Given the description of an element on the screen output the (x, y) to click on. 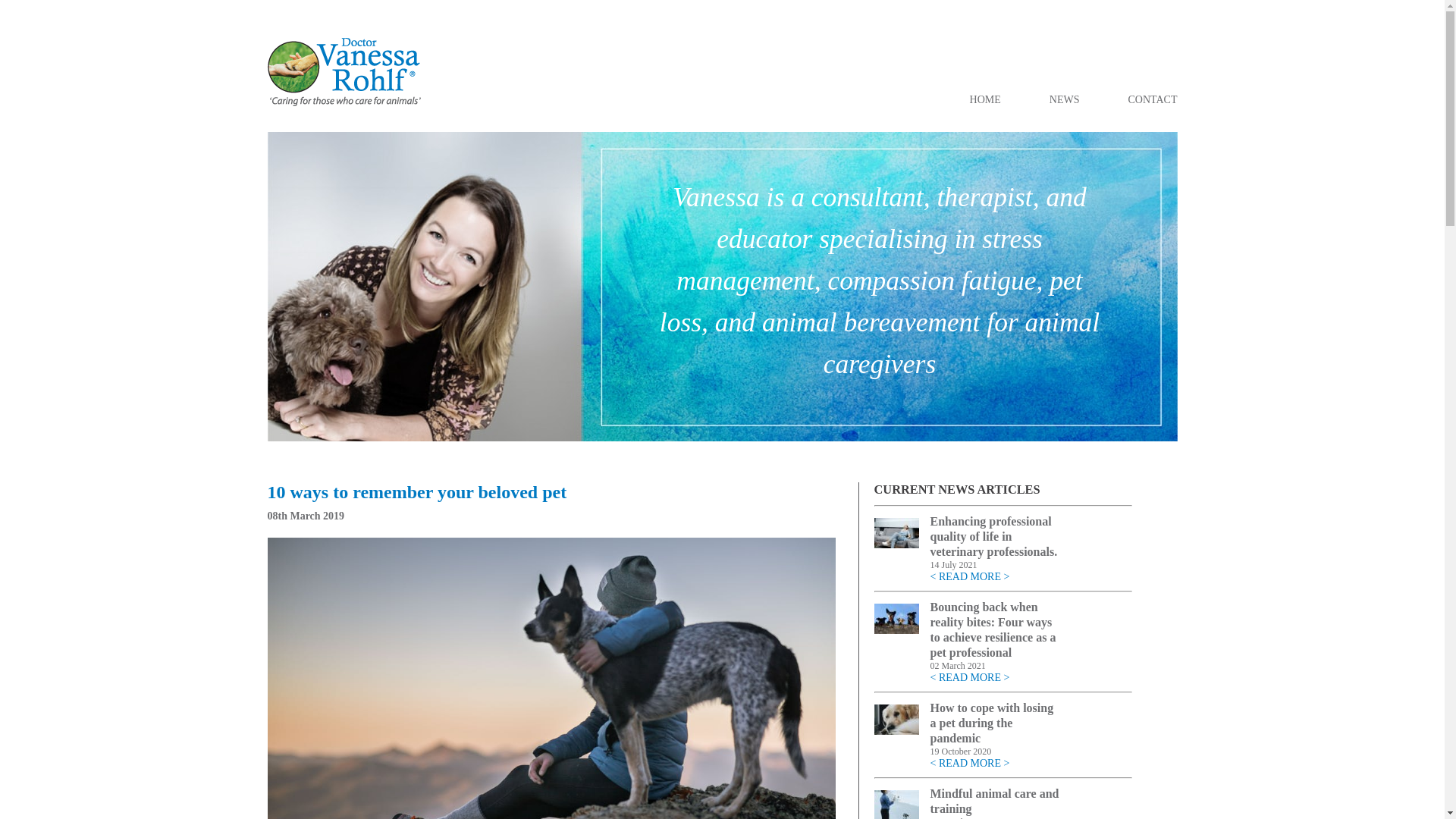
< READ MORE > Element type: text (969, 762)
< READ MORE > Element type: text (969, 576)
HOME Element type: text (985, 99)
CONTACT Element type: text (1152, 99)
NEWS Element type: text (1064, 99)
< READ MORE > Element type: text (969, 677)
